Given the description of an element on the screen output the (x, y) to click on. 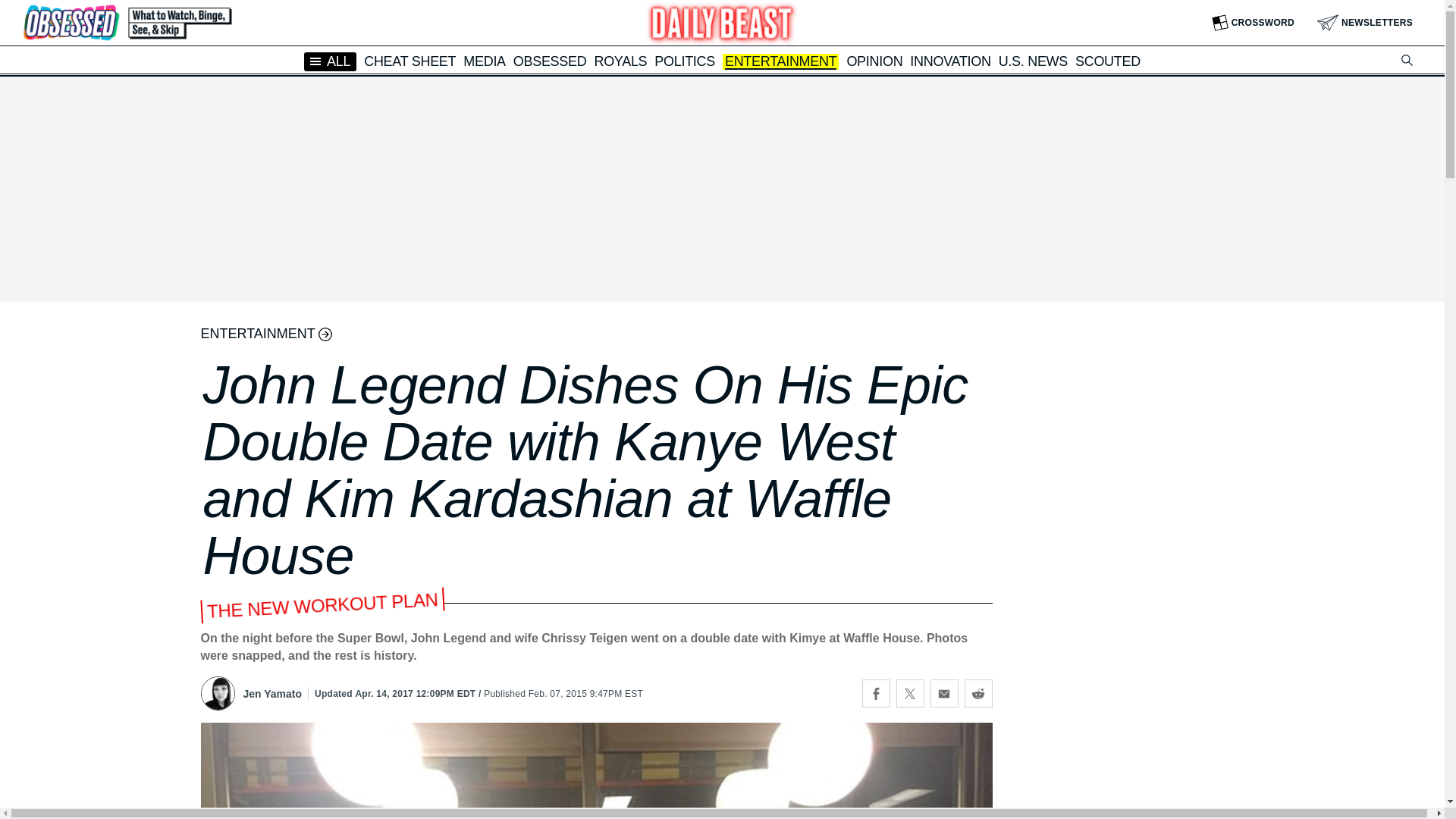
MEDIA (484, 60)
NEWSLETTERS (1364, 22)
POLITICS (683, 60)
ROYALS (620, 60)
OPINION (873, 60)
INNOVATION (950, 60)
ENTERTAINMENT (780, 61)
OBSESSED (549, 60)
U.S. NEWS (1032, 60)
ALL (330, 60)
SCOUTED (1107, 60)
CROSSWORD (1252, 22)
CHEAT SHEET (409, 60)
